Given the description of an element on the screen output the (x, y) to click on. 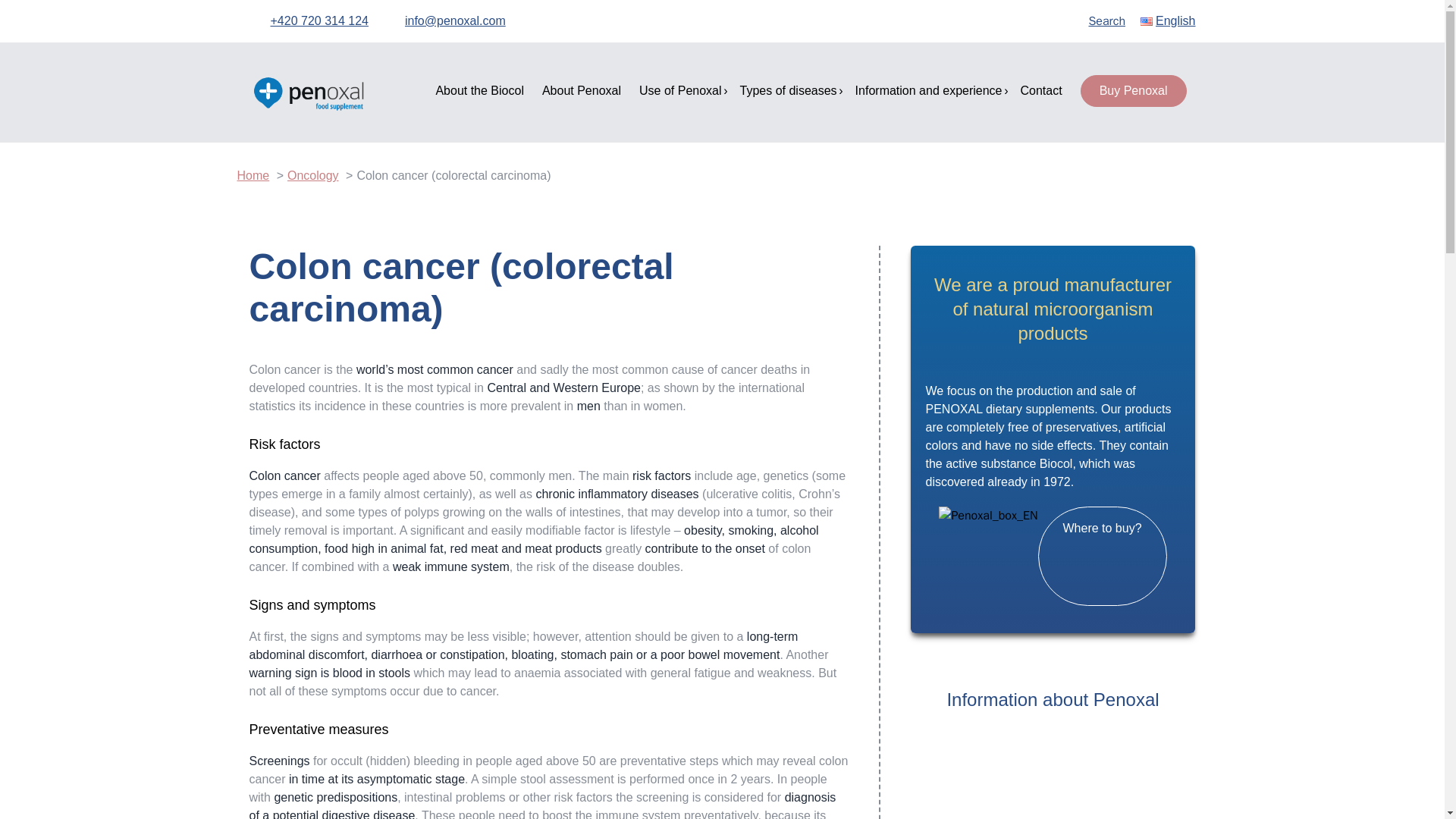
English (1167, 21)
Information and experience (929, 90)
Buy Penoxal (1133, 91)
About Penoxal (581, 90)
About the Biocol (479, 90)
Oncology (312, 174)
English (1167, 21)
Contact (1041, 90)
Home (252, 174)
